Given the description of an element on the screen output the (x, y) to click on. 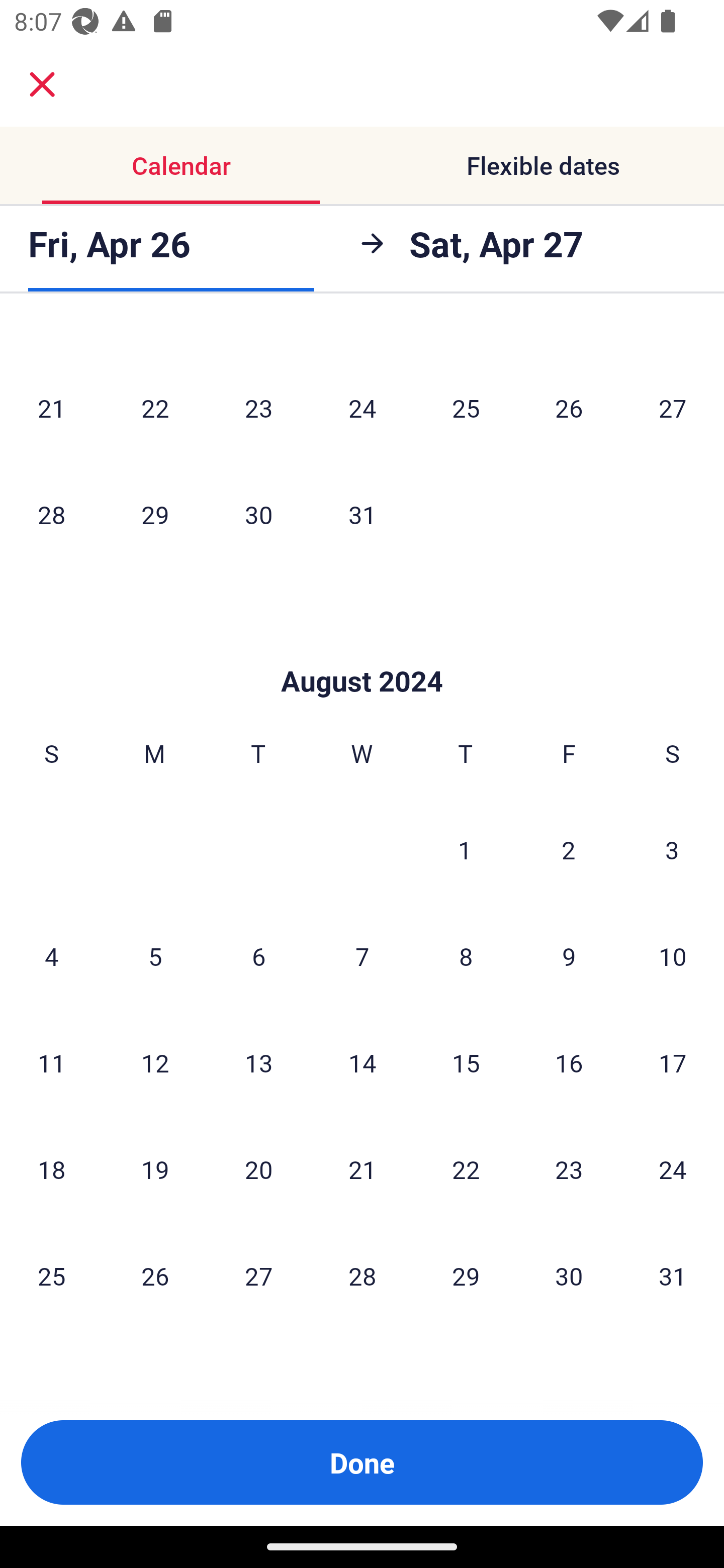
close. (42, 84)
Flexible dates (542, 164)
21 Sunday, July 21, 2024 (51, 407)
22 Monday, July 22, 2024 (155, 407)
23 Tuesday, July 23, 2024 (258, 407)
24 Wednesday, July 24, 2024 (362, 407)
25 Thursday, July 25, 2024 (465, 407)
26 Friday, July 26, 2024 (569, 407)
27 Saturday, July 27, 2024 (672, 407)
28 Sunday, July 28, 2024 (51, 514)
29 Monday, July 29, 2024 (155, 514)
30 Tuesday, July 30, 2024 (258, 514)
31 Wednesday, July 31, 2024 (362, 514)
Skip to Done (362, 650)
1 Thursday, August 1, 2024 (464, 849)
2 Friday, August 2, 2024 (568, 849)
3 Saturday, August 3, 2024 (672, 849)
4 Sunday, August 4, 2024 (51, 956)
5 Monday, August 5, 2024 (155, 956)
6 Tuesday, August 6, 2024 (258, 956)
